Given the description of an element on the screen output the (x, y) to click on. 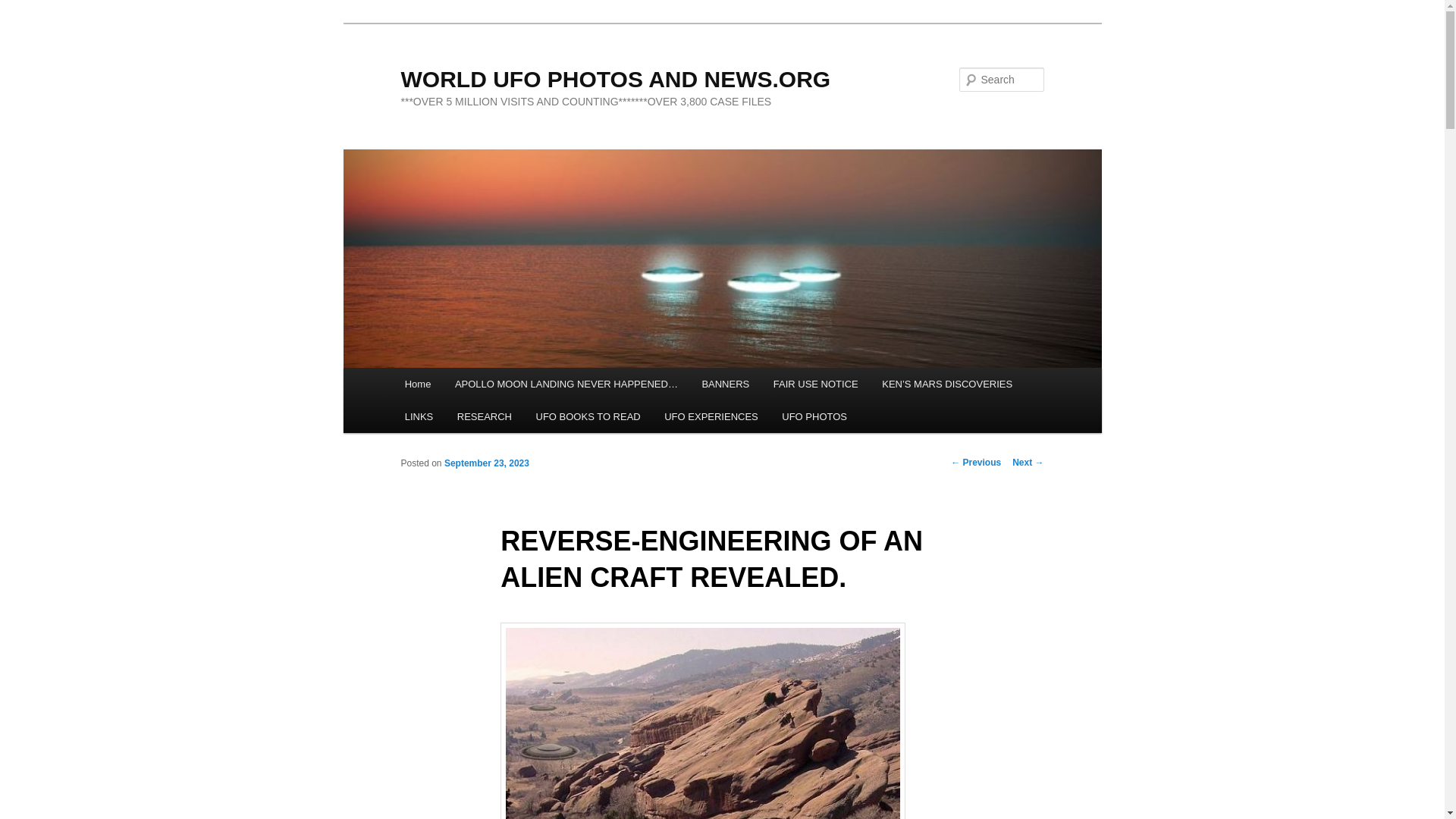
UFO BOOKS TO READ (588, 416)
BANNERS (725, 383)
6:34 pm (486, 462)
UFO PHOTOS (814, 416)
UFO EXPERIENCES (711, 416)
LINKS (419, 416)
September 23, 2023 (486, 462)
WORLD UFO PHOTOS AND NEWS.ORG (614, 78)
FAIR USE NOTICE (815, 383)
Home (417, 383)
